Given the description of an element on the screen output the (x, y) to click on. 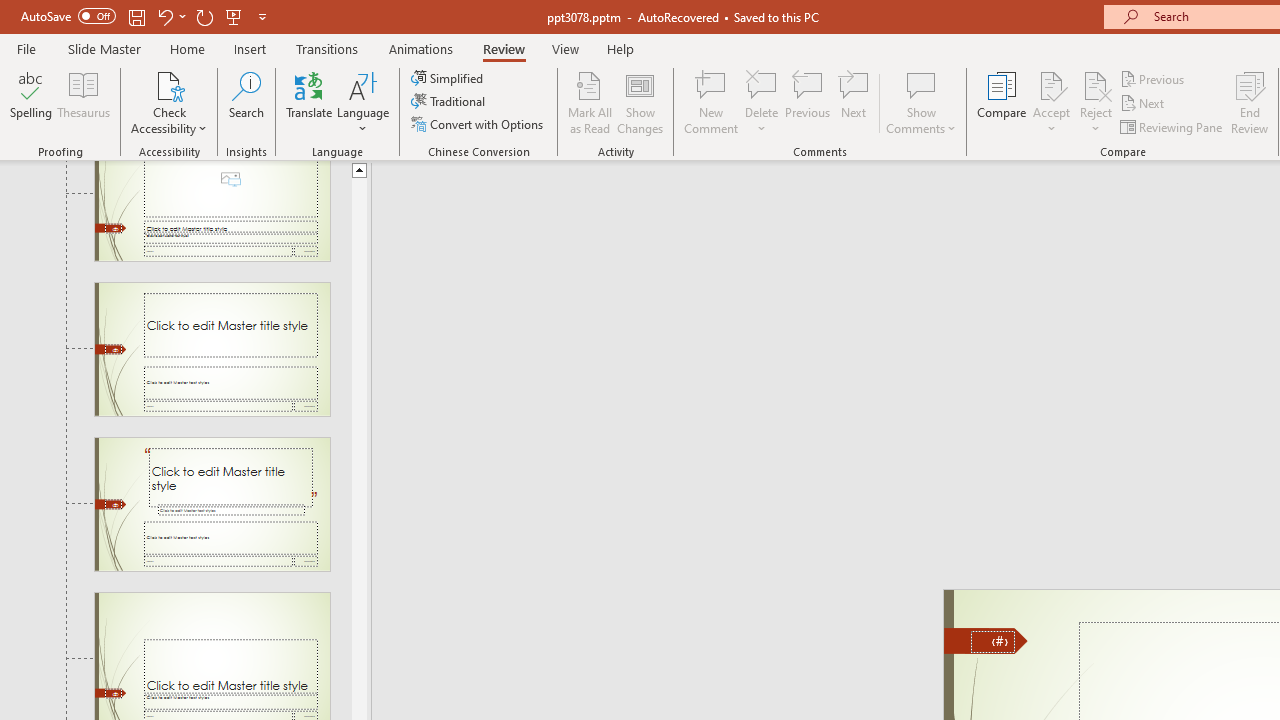
Undo <ApplyStyleToDoc>b__0 (280, 31)
